Given the description of an element on the screen output the (x, y) to click on. 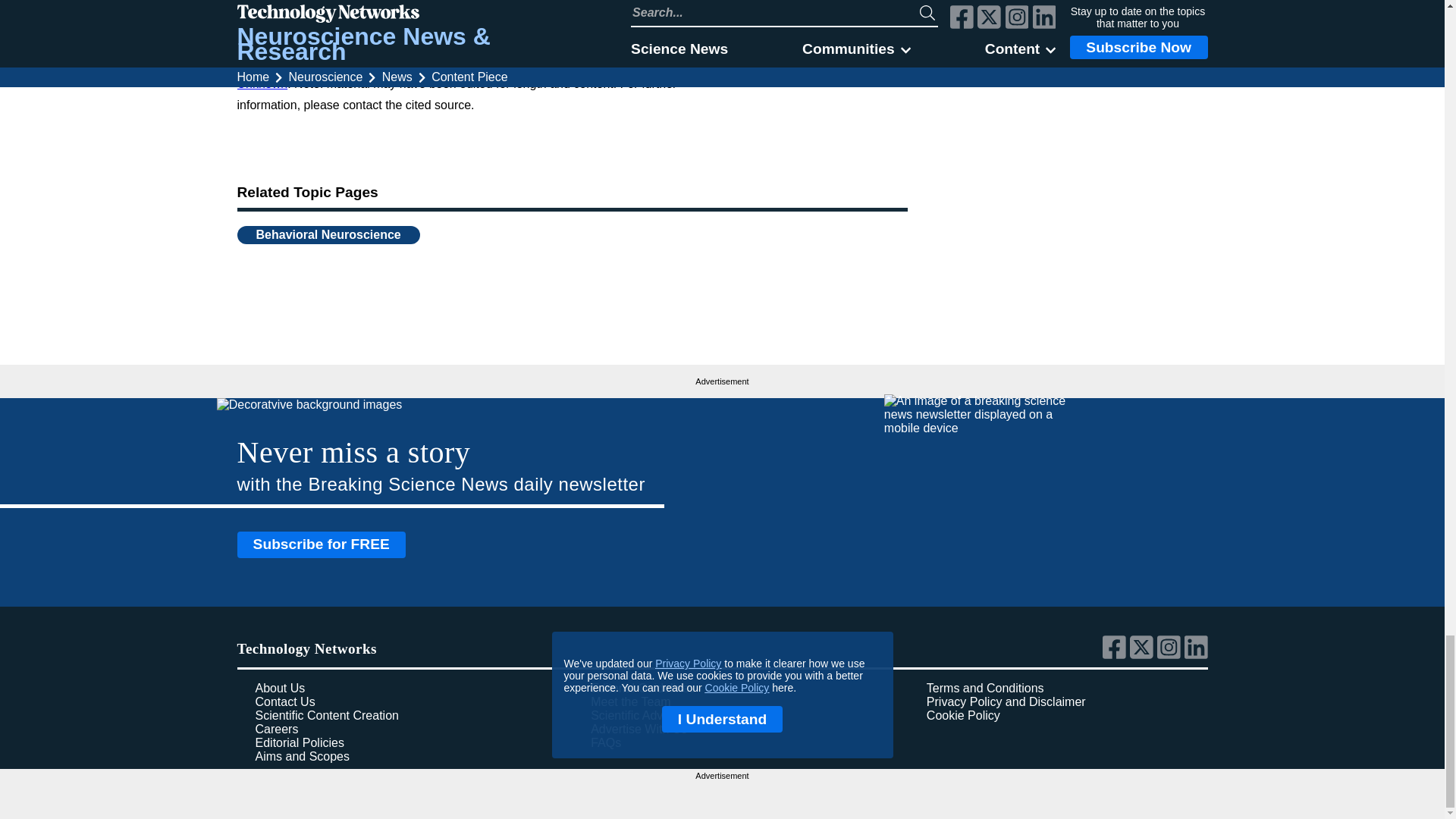
Link to Technology Networks' twitter page (1143, 655)
Link to Technology Networks' facebook page (1115, 655)
Link to Technology Networks' instagram page (1171, 655)
Link to Technology Networks' linkedin page (1196, 655)
